Given the description of an element on the screen output the (x, y) to click on. 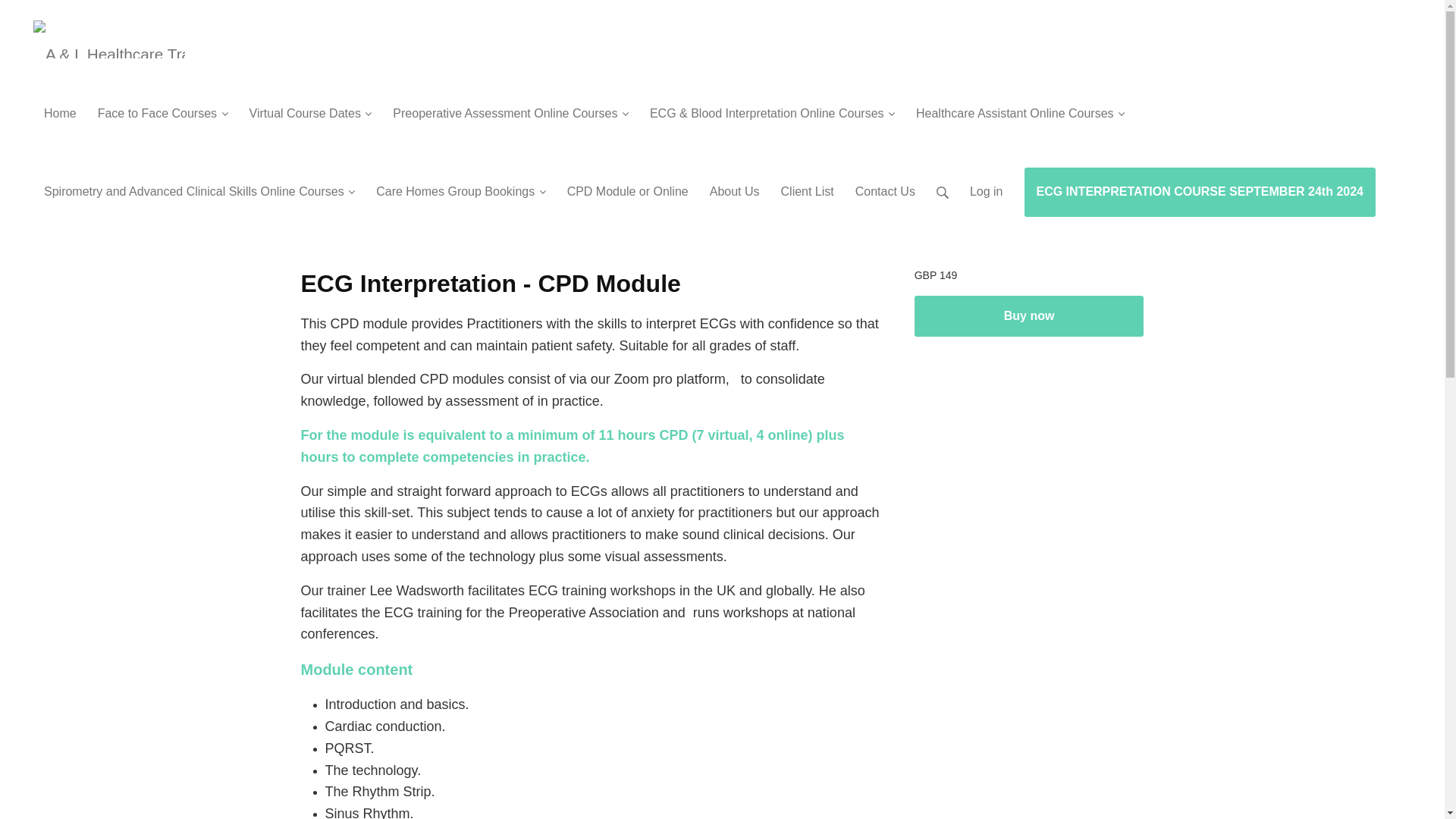
Preoperative Assessment Online Courses (510, 107)
CPD Module or Online (627, 185)
Healthcare Assistant Online Courses (1020, 107)
Face to Face Courses (162, 107)
Virtual Course Dates (310, 107)
About Us (734, 185)
Spirometry and Advanced Clinical Skills Online Courses (199, 185)
Care Homes Group Bookings (460, 185)
